Given the description of an element on the screen output the (x, y) to click on. 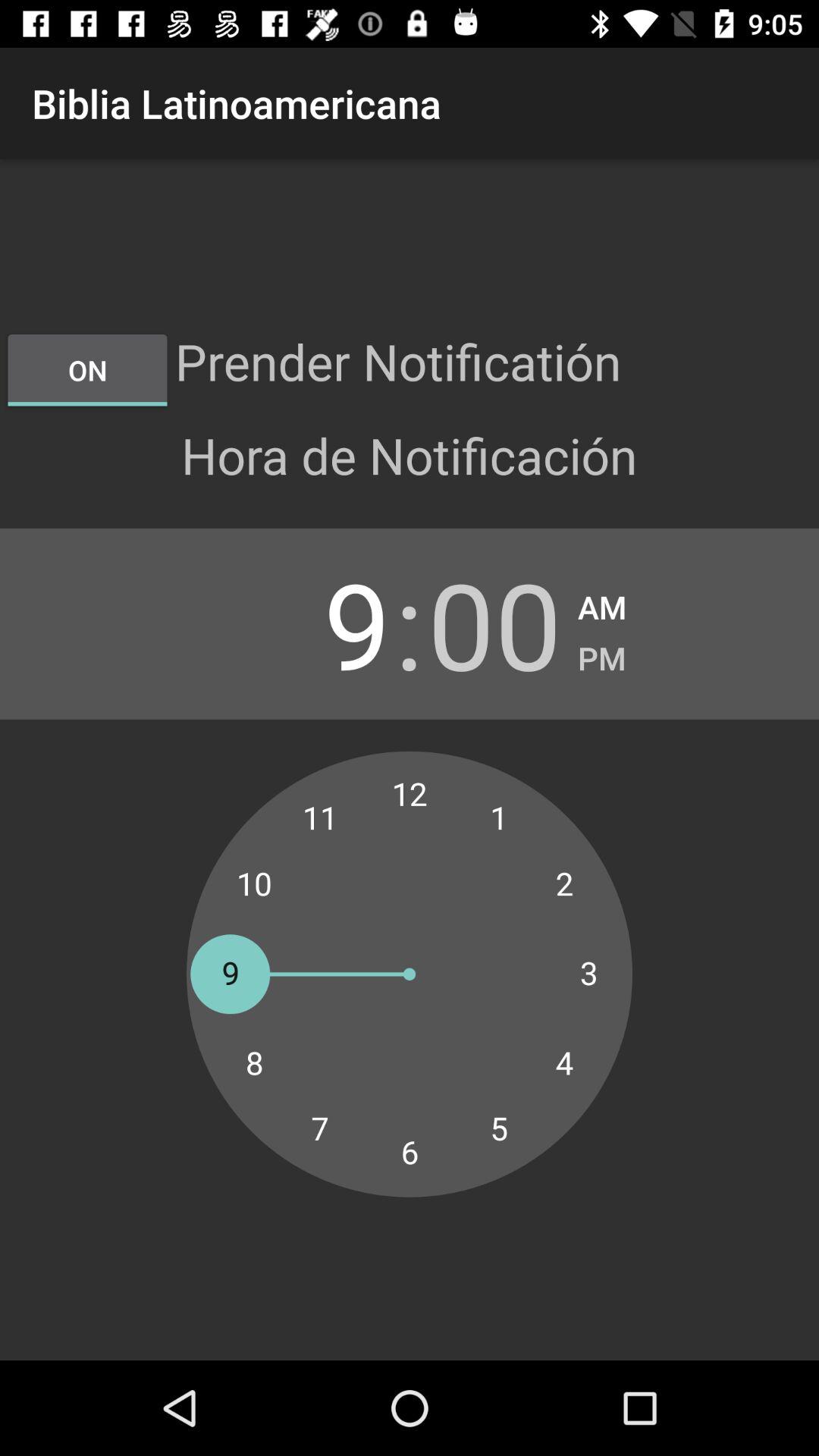
choose on (87, 370)
